Given the description of an element on the screen output the (x, y) to click on. 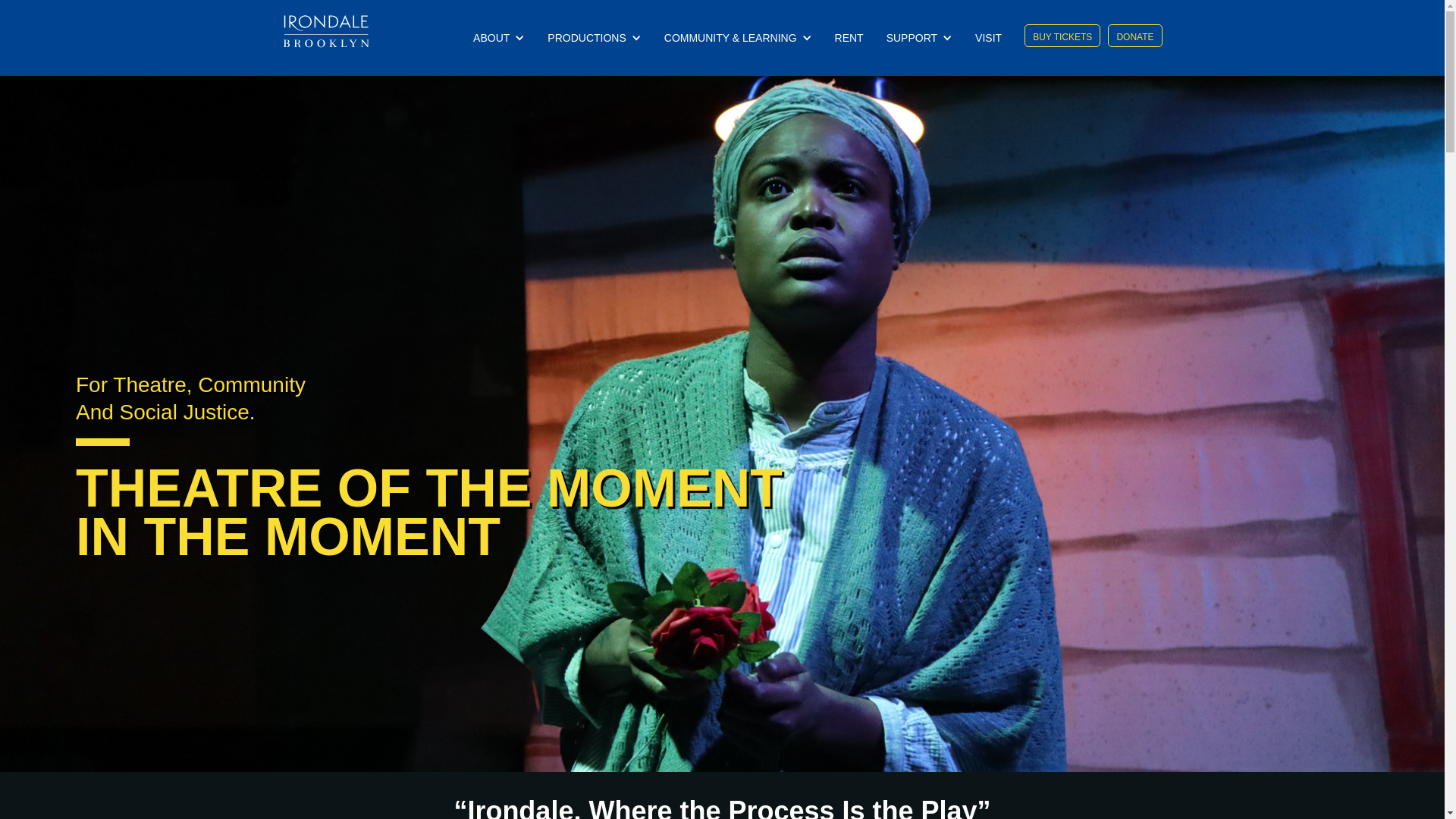
BUY TICKETS (1062, 35)
RENT (853, 37)
VISIT (992, 37)
DONATE (1134, 35)
